Given the description of an element on the screen output the (x, y) to click on. 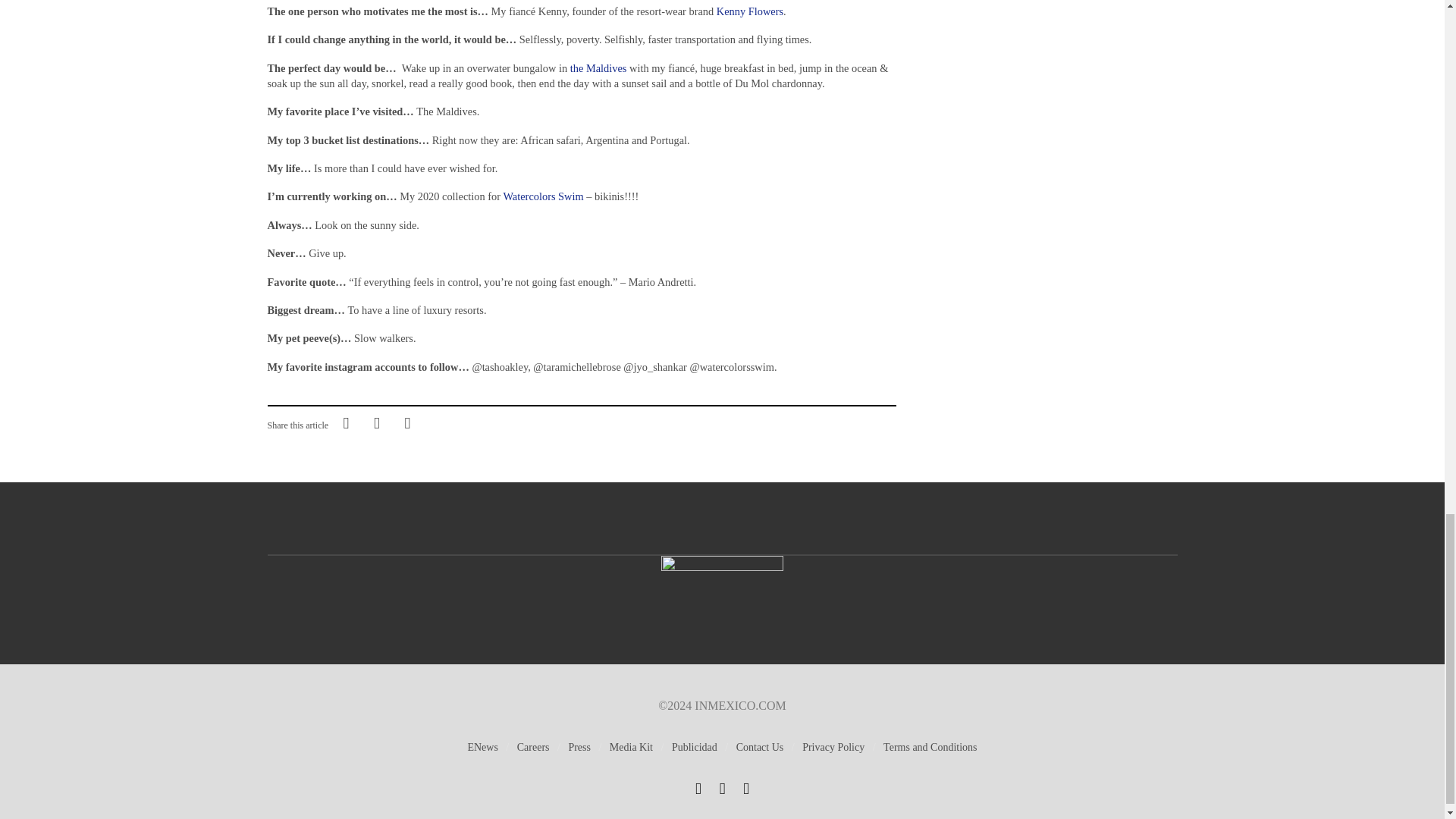
Share on Email (407, 421)
Share on Facebook (345, 421)
Share on Twitter (376, 421)
